Given the description of an element on the screen output the (x, y) to click on. 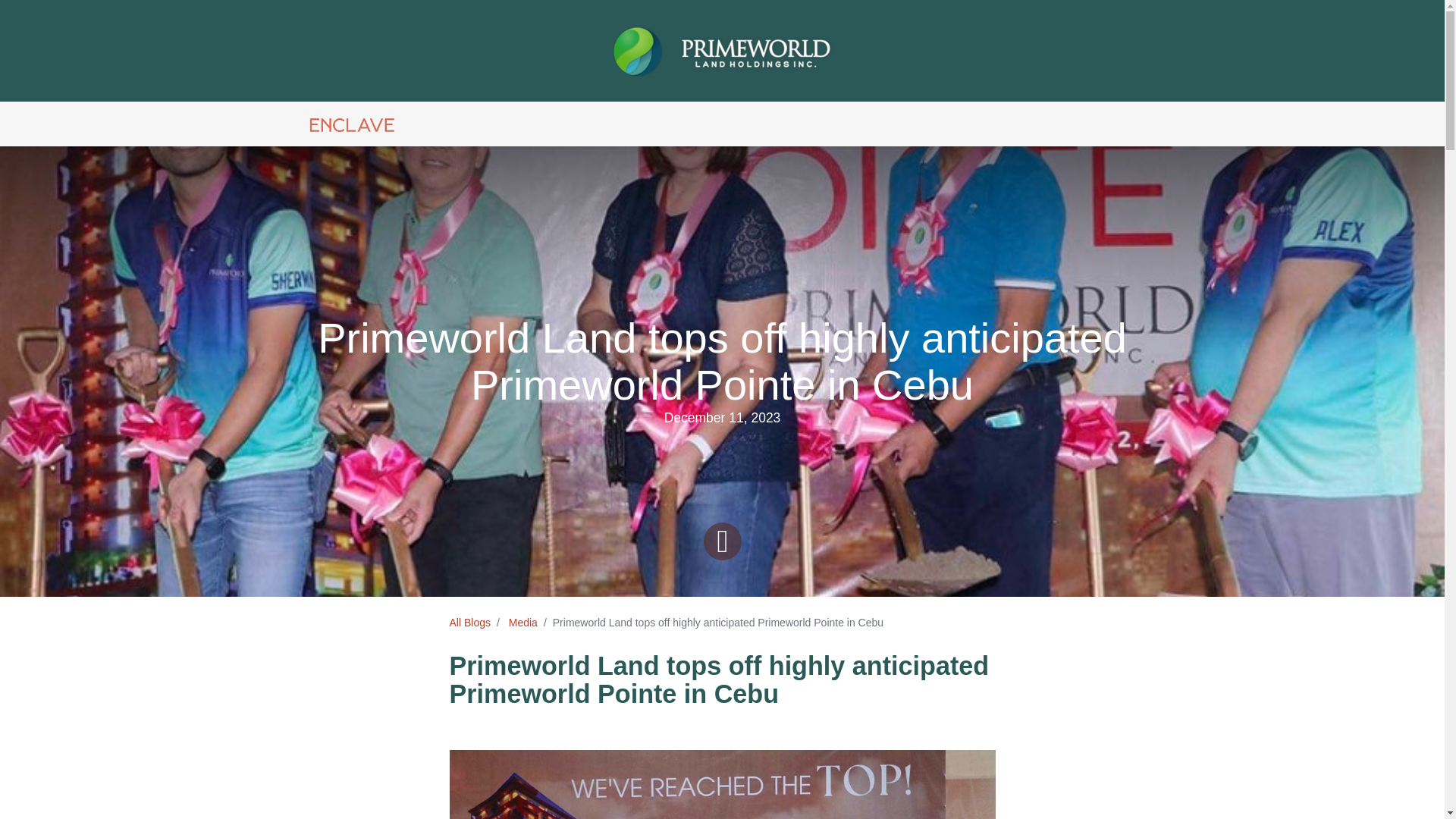
Media (522, 622)
primeworldenclaveph.com (351, 123)
All Blogs (468, 622)
